Given the description of an element on the screen output the (x, y) to click on. 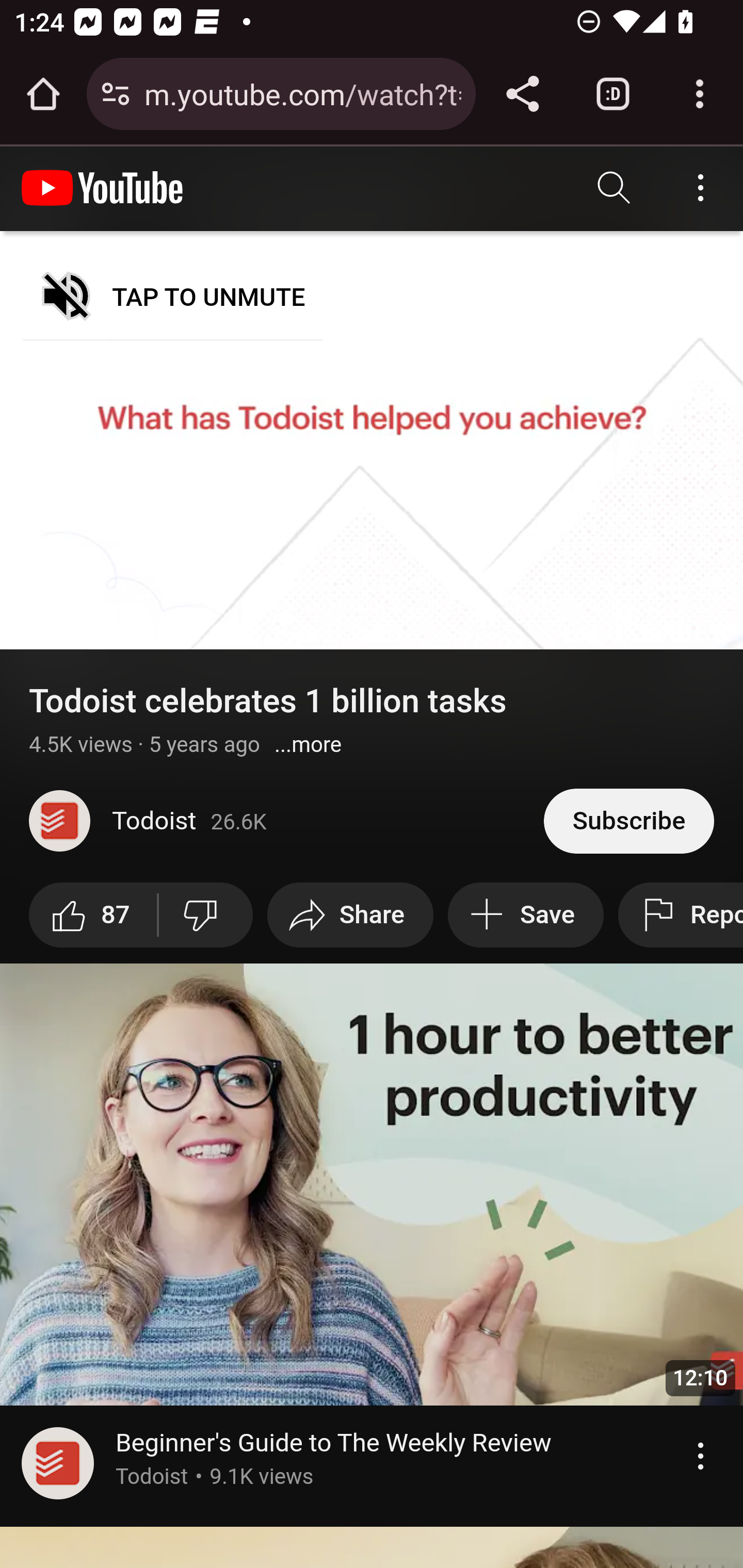
Open the home page (43, 93)
Connection is secure (115, 93)
Share (522, 93)
Switch or close tabs (612, 93)
Customize and control Google Chrome (699, 93)
YouTube (102, 188)
Search YouTube (614, 188)
Account (700, 188)
TAP TO UNMUTE (173, 296)
Show more (308, 744)
Subscribe to Todoist. (627, 819)
Todoist (286, 820)
like this video along with 87 other people (94, 914)
Dislike this video (204, 914)
Share (349, 914)
Save to playlist (526, 914)
Report (680, 914)
Action menu (700, 1455)
Go to channel (58, 1465)
